Given the description of an element on the screen output the (x, y) to click on. 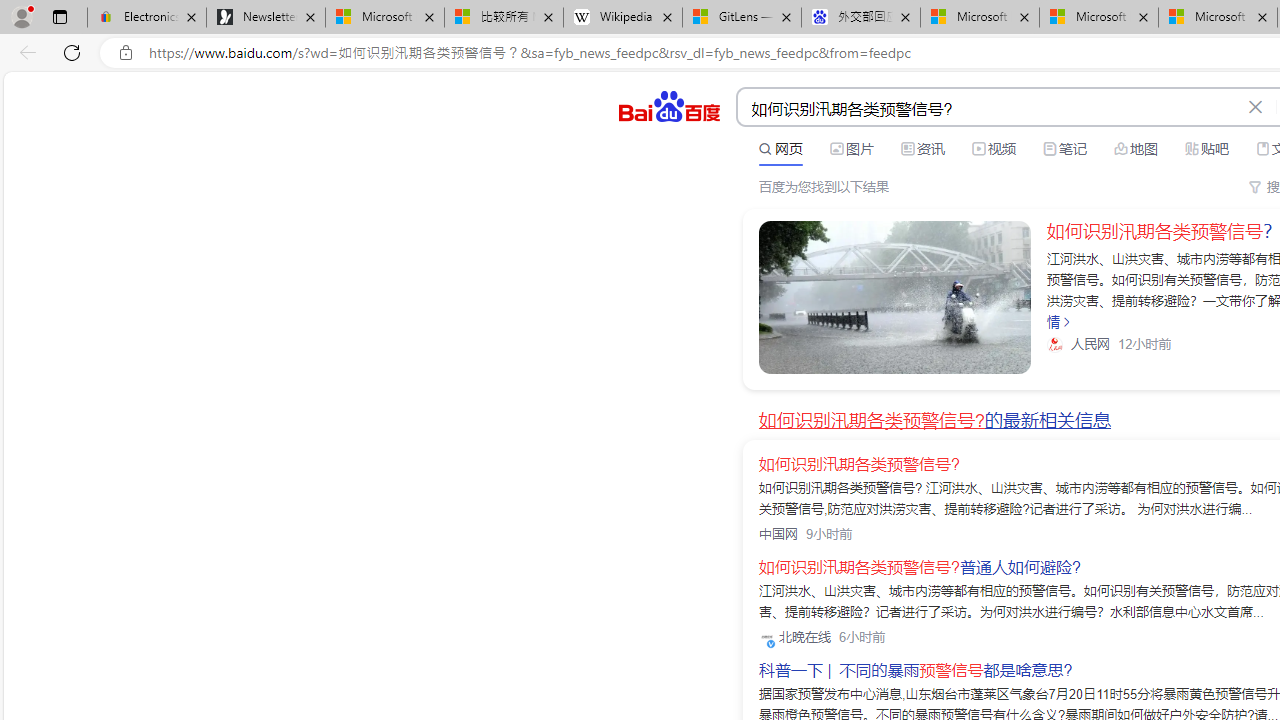
Class: sc-link _link_kwqvb_2 -v-color-primary block (894, 297)
AutomationID: kw (989, 107)
